Given the description of an element on the screen output the (x, y) to click on. 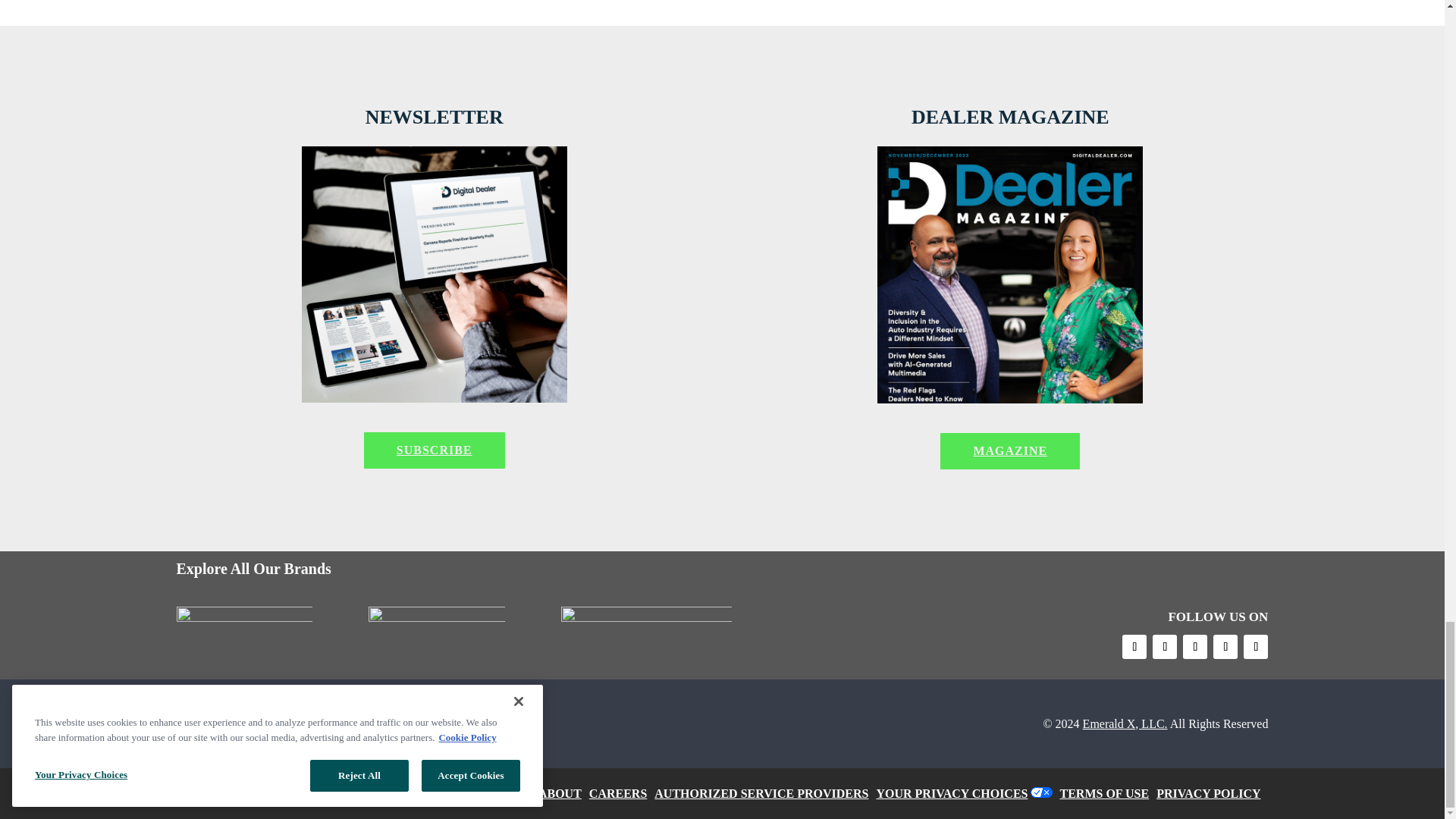
emelarld-logo-transparent (270, 723)
Follow on Youtube (1194, 646)
Follow on Instagram (1224, 646)
E-Newsletter-Mockup2-768x742 (434, 274)
Follow on X (1164, 646)
Follow on Facebook (1134, 646)
Follow on LinkedIn (1255, 646)
Dealer Magazine (1009, 274)
